Given the description of an element on the screen output the (x, y) to click on. 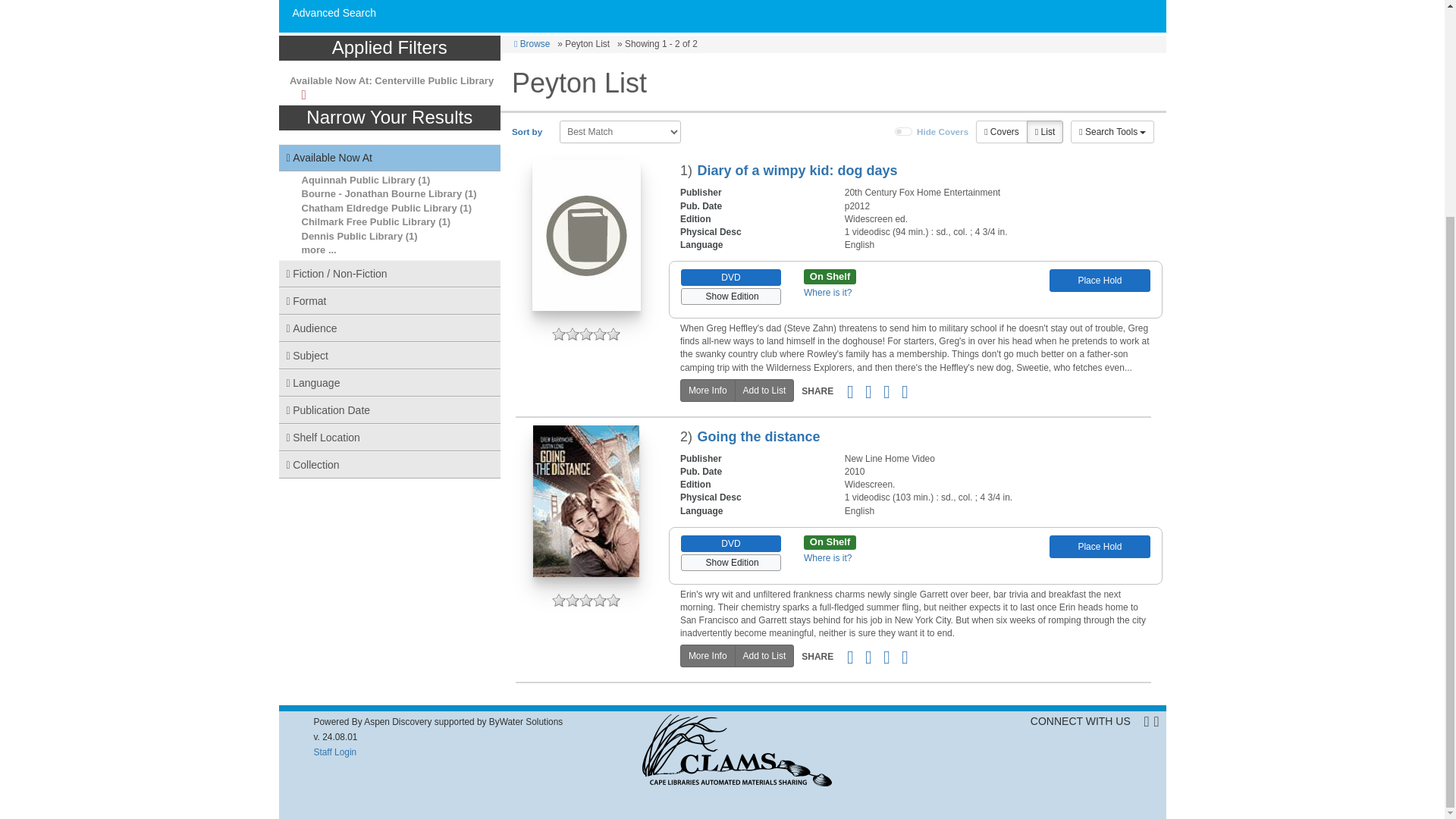
Chilmark Free Public Library (368, 221)
Aquinnah Public Library (357, 179)
Advanced Search (334, 12)
Chatham Eldredge Public Library (379, 207)
Bourne - Jonathan Bourne Library (382, 193)
Dennis Public Library (352, 235)
on (903, 131)
